Given the description of an element on the screen output the (x, y) to click on. 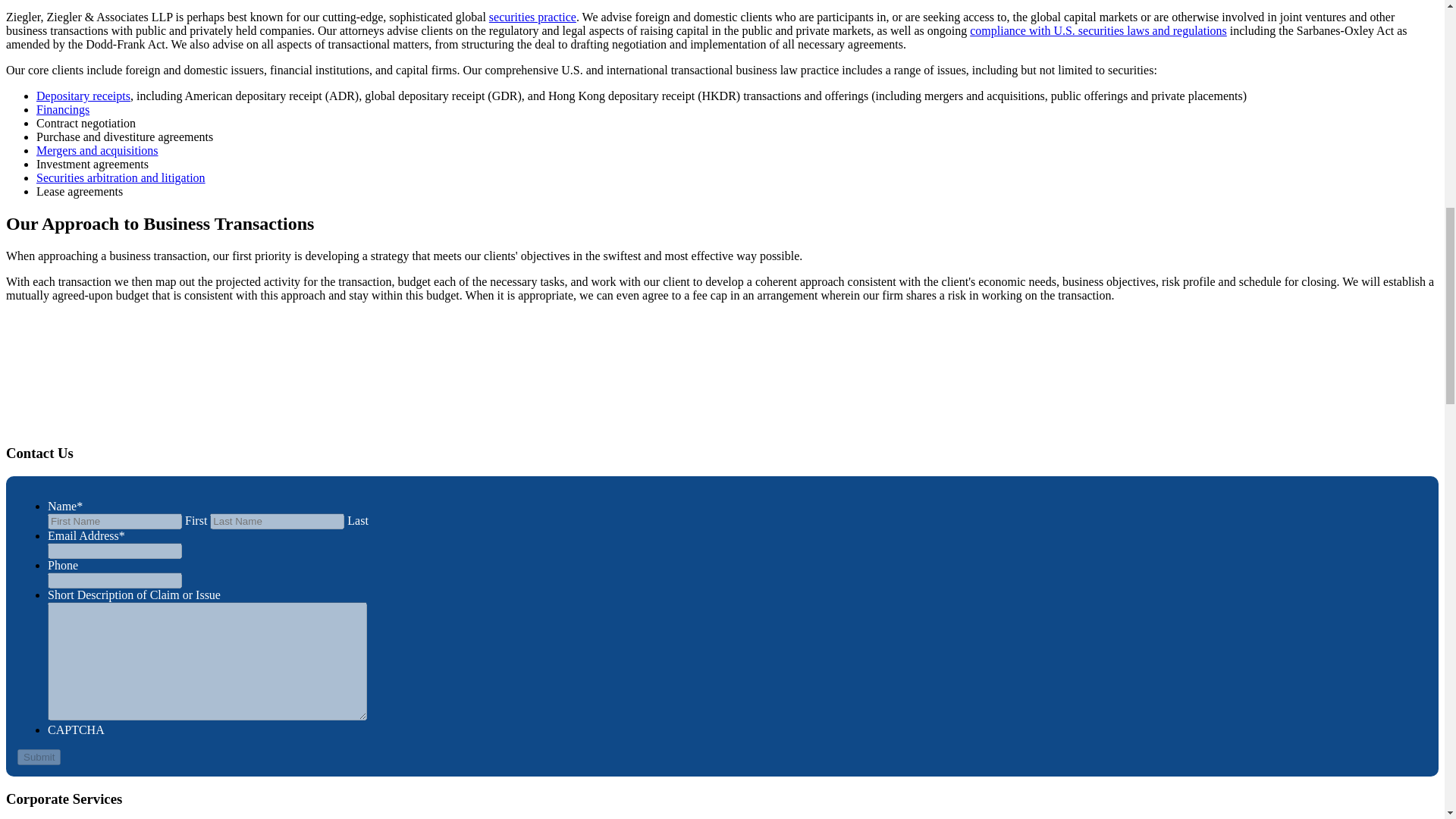
Financing and Offerings (62, 109)
Securities (532, 16)
Securities Arbitration and Litigation (120, 177)
Submit (39, 756)
Sarbanes-Oxley and Regulatory Compliance (1098, 30)
